Given the description of an element on the screen output the (x, y) to click on. 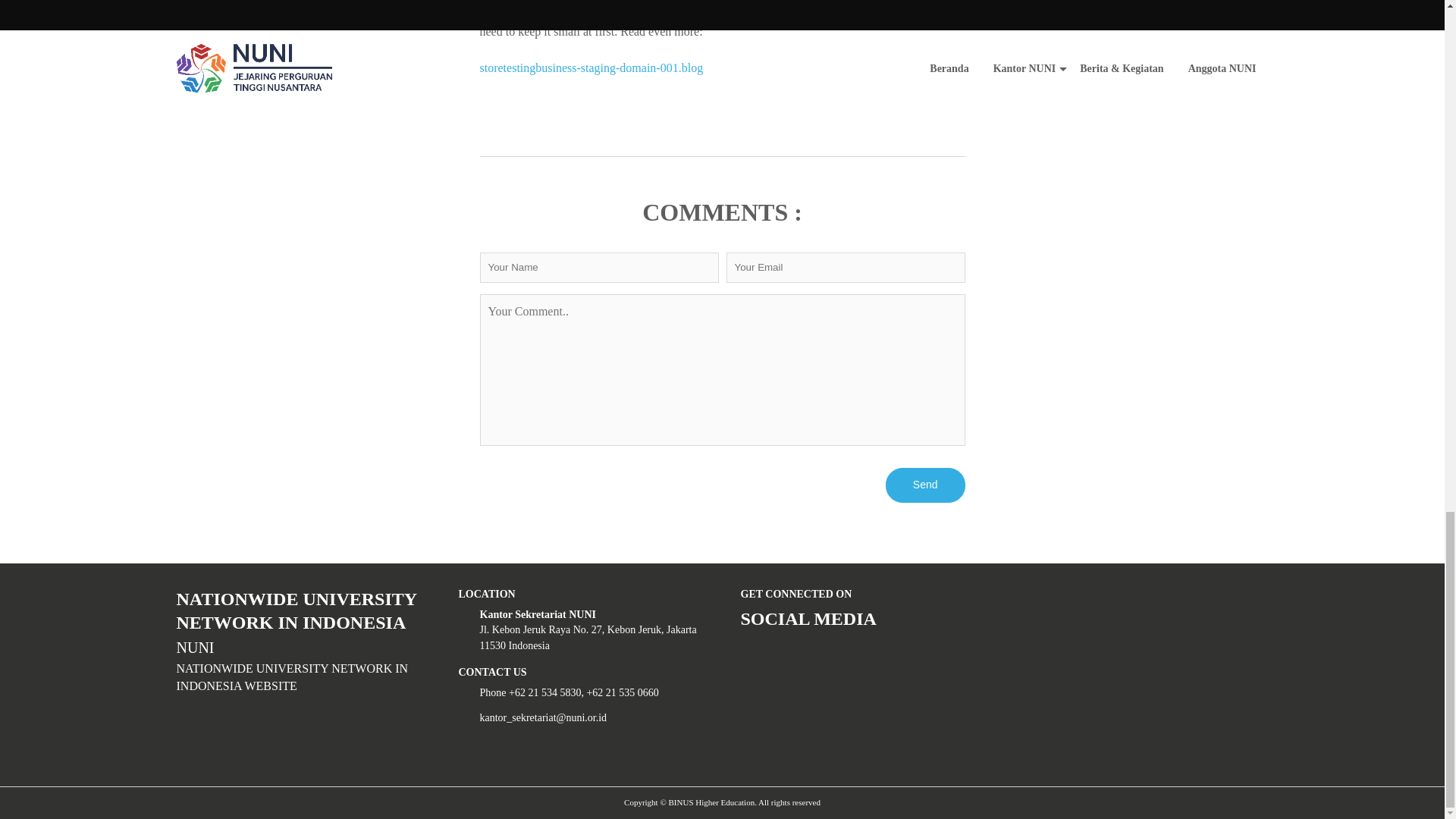
Send (925, 484)
Send (925, 484)
storetestingbusiness-staging-domain-001.blog (591, 67)
